Given the description of an element on the screen output the (x, y) to click on. 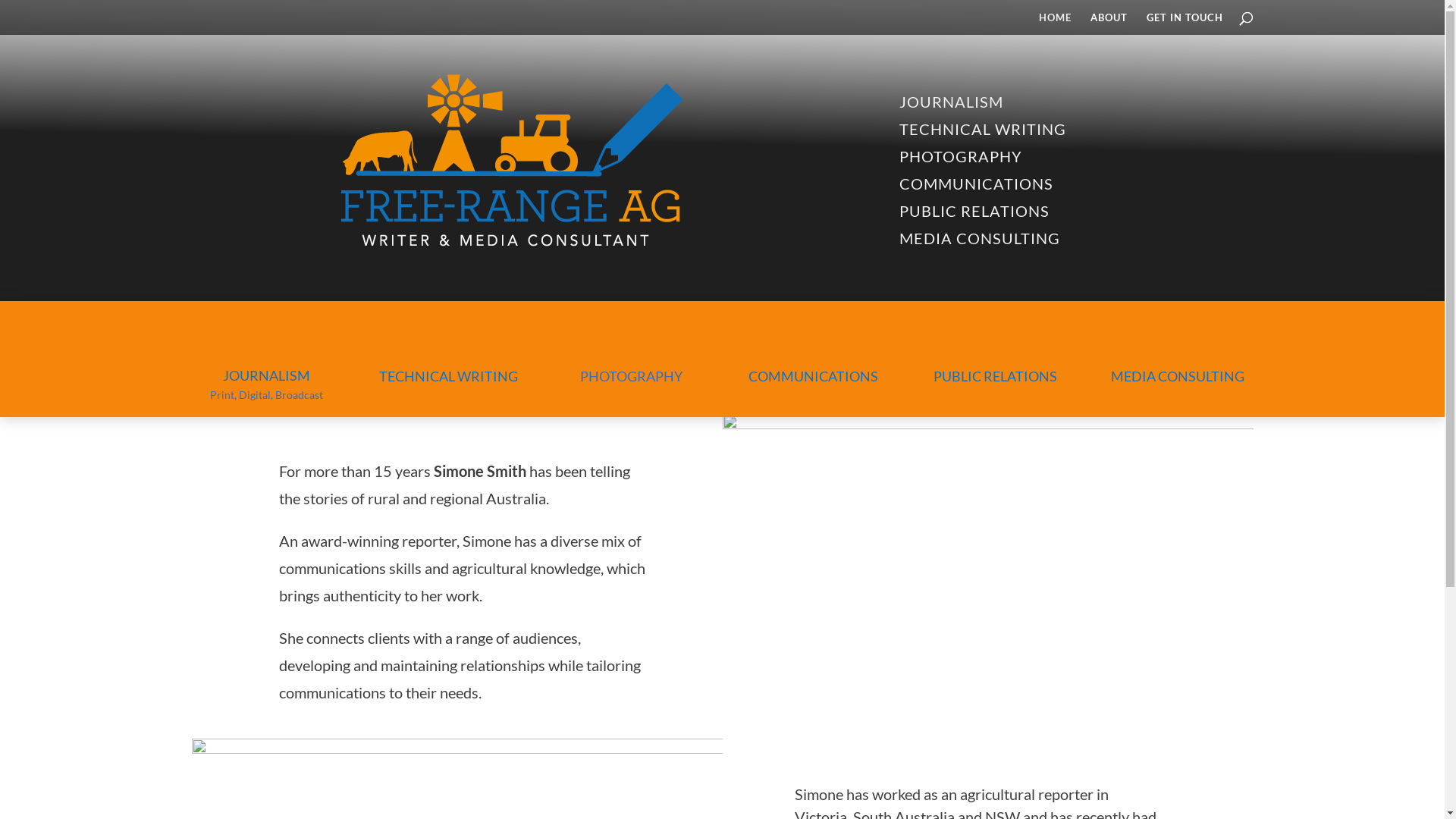
ABOUT Element type: text (1108, 23)
GET IN TOUCH Element type: text (1184, 23)
HOME Element type: text (1054, 23)
